Given the description of an element on the screen output the (x, y) to click on. 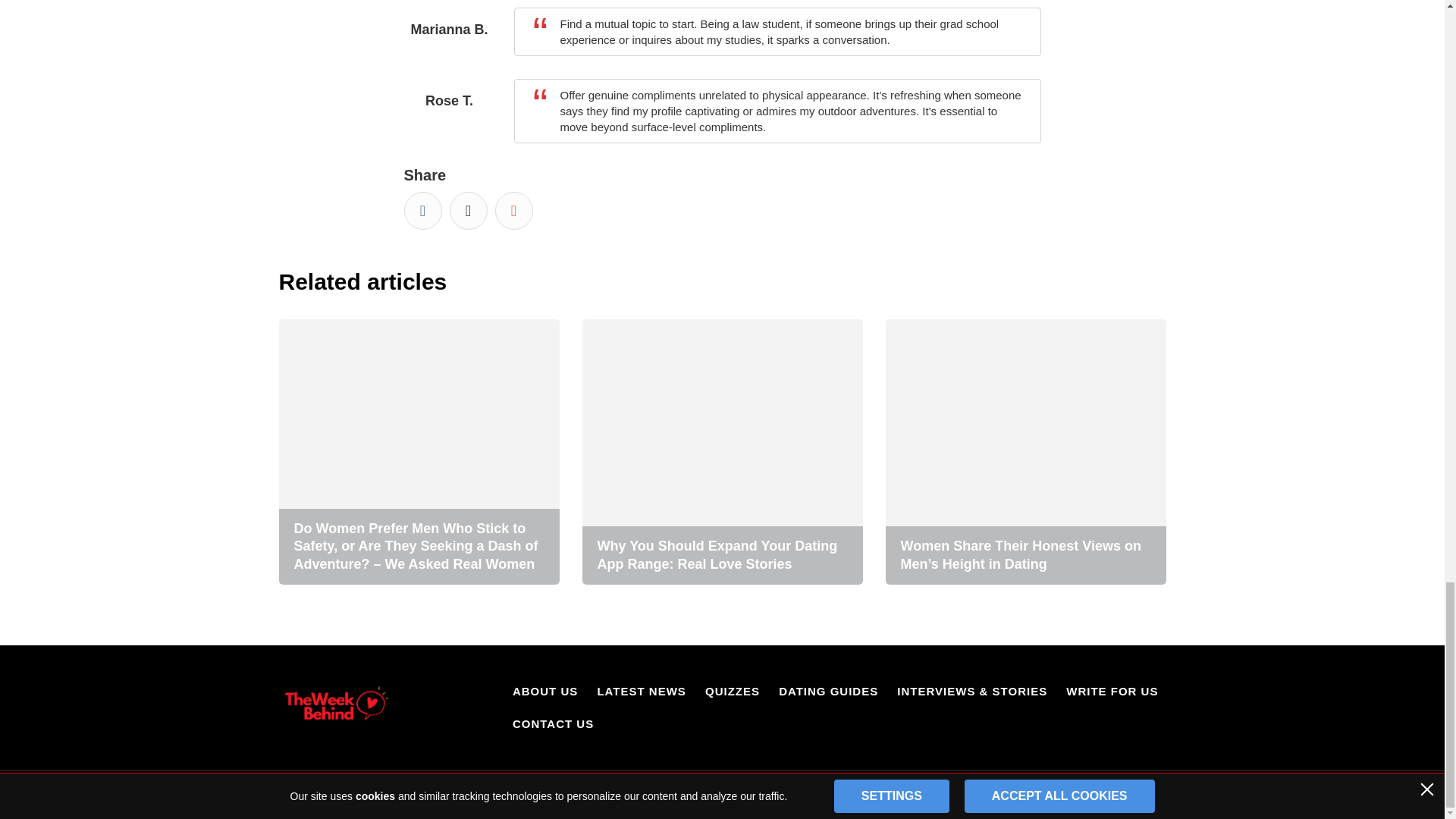
ABOUT US (545, 690)
WRITE FOR US (1111, 690)
QUIZZES (732, 690)
LATEST NEWS (640, 690)
TheWeekBehind (335, 707)
DATING GUIDES (827, 690)
CONTACT US (553, 722)
